Given the description of an element on the screen output the (x, y) to click on. 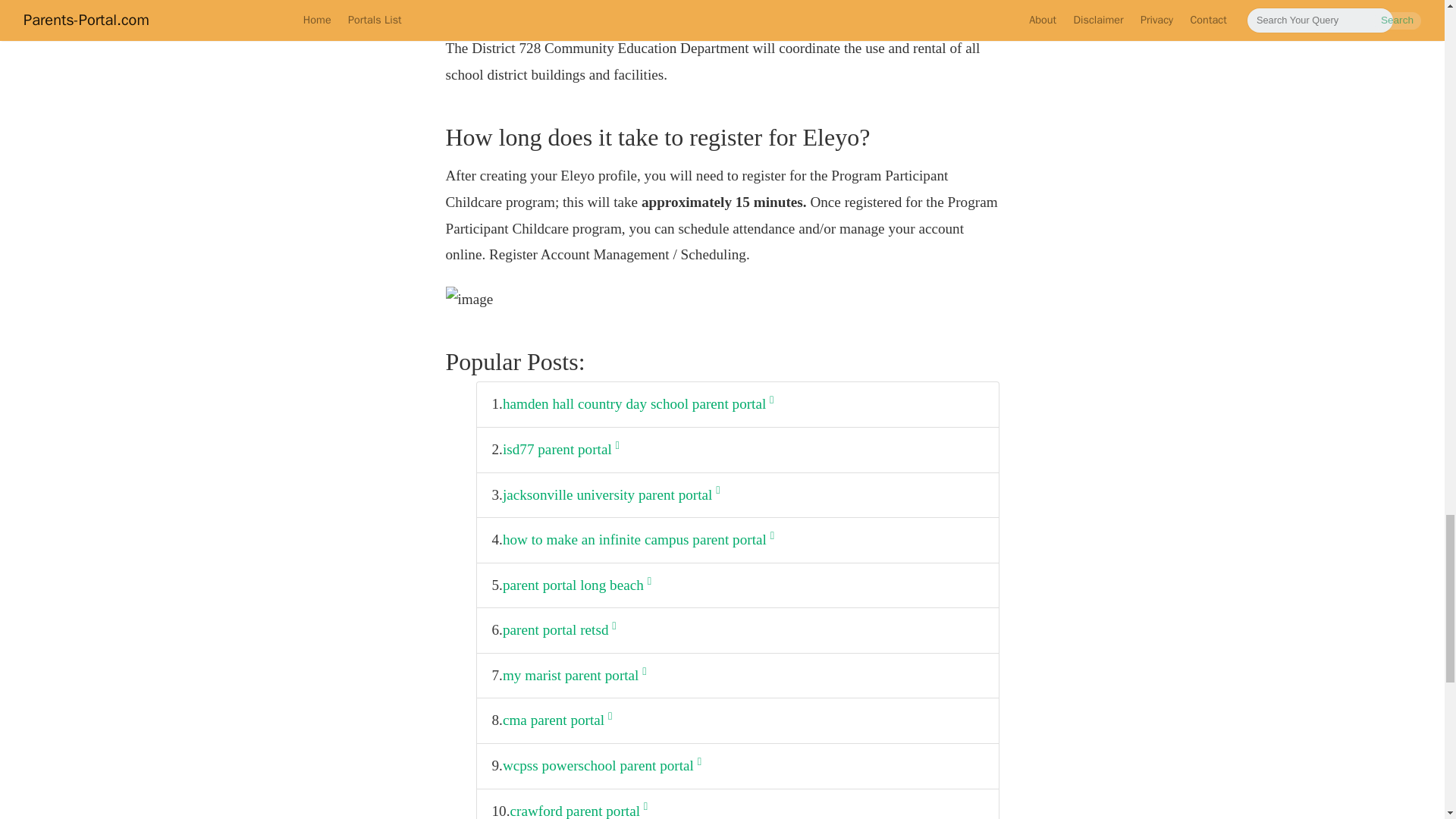
jacksonville university parent portal (611, 495)
crawford parent portal (578, 808)
wcpss powerschool parent portal (601, 765)
crawford parent portal (578, 808)
how to make an infinite campus parent portal (638, 540)
parent portal retsd (558, 630)
isd77 parent portal (561, 449)
cma parent portal (556, 720)
parent portal long beach (576, 585)
my marist parent portal (574, 675)
isd77 parent portal (561, 449)
wcpss powerschool parent portal (601, 765)
how to make an infinite campus parent portal (638, 540)
parent portal retsd (558, 630)
my marist parent portal (574, 675)
